Given the description of an element on the screen output the (x, y) to click on. 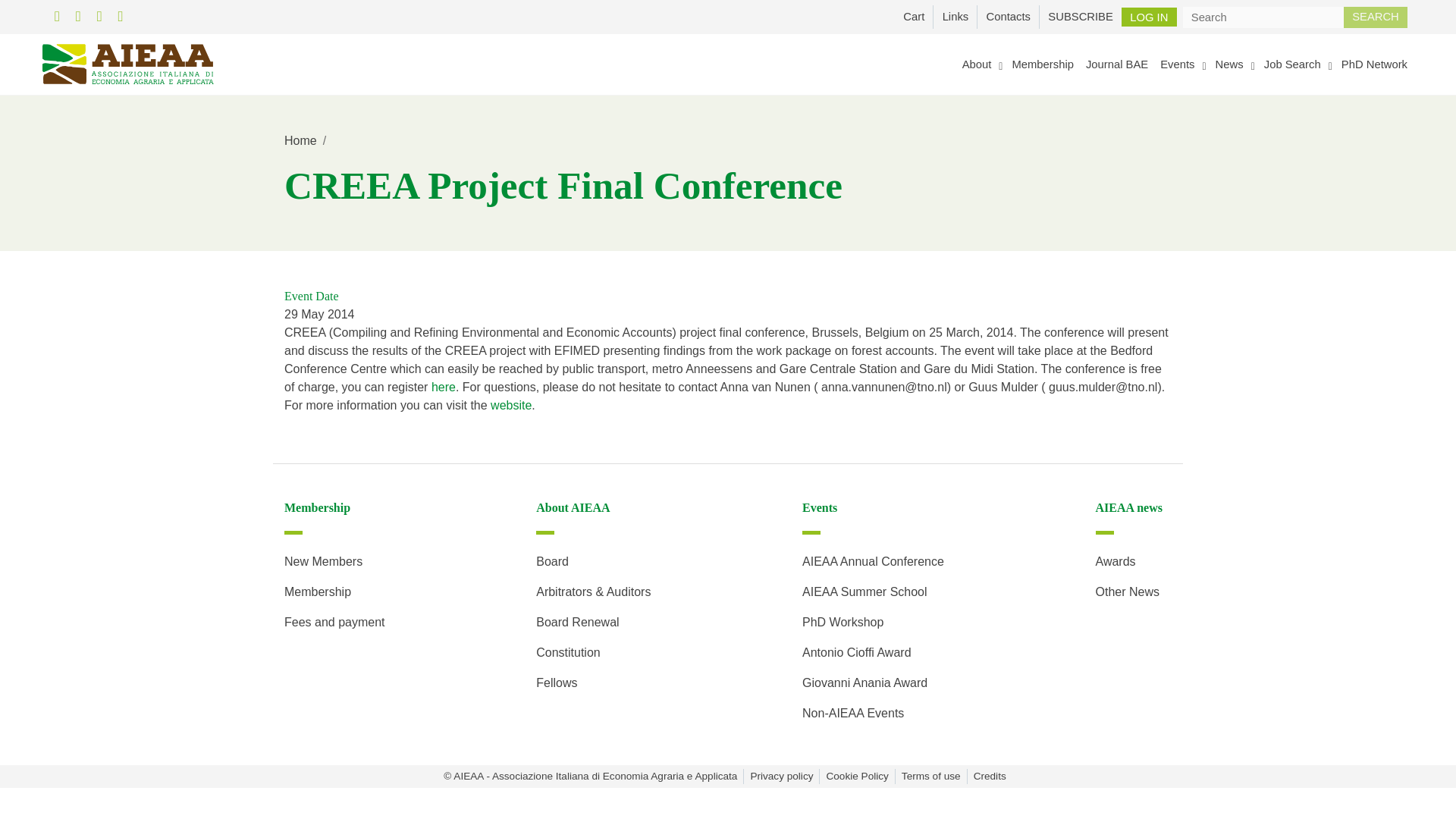
PhD Network (1374, 63)
LOG IN (1148, 17)
Enter the terms you wish to search for. (1262, 16)
Journal BAE (1117, 63)
Contacts (1007, 15)
SUBSCRIBE (1080, 15)
Home (300, 140)
Group 120 (128, 64)
Group 120 (128, 64)
Links (954, 15)
